Given the description of an element on the screen output the (x, y) to click on. 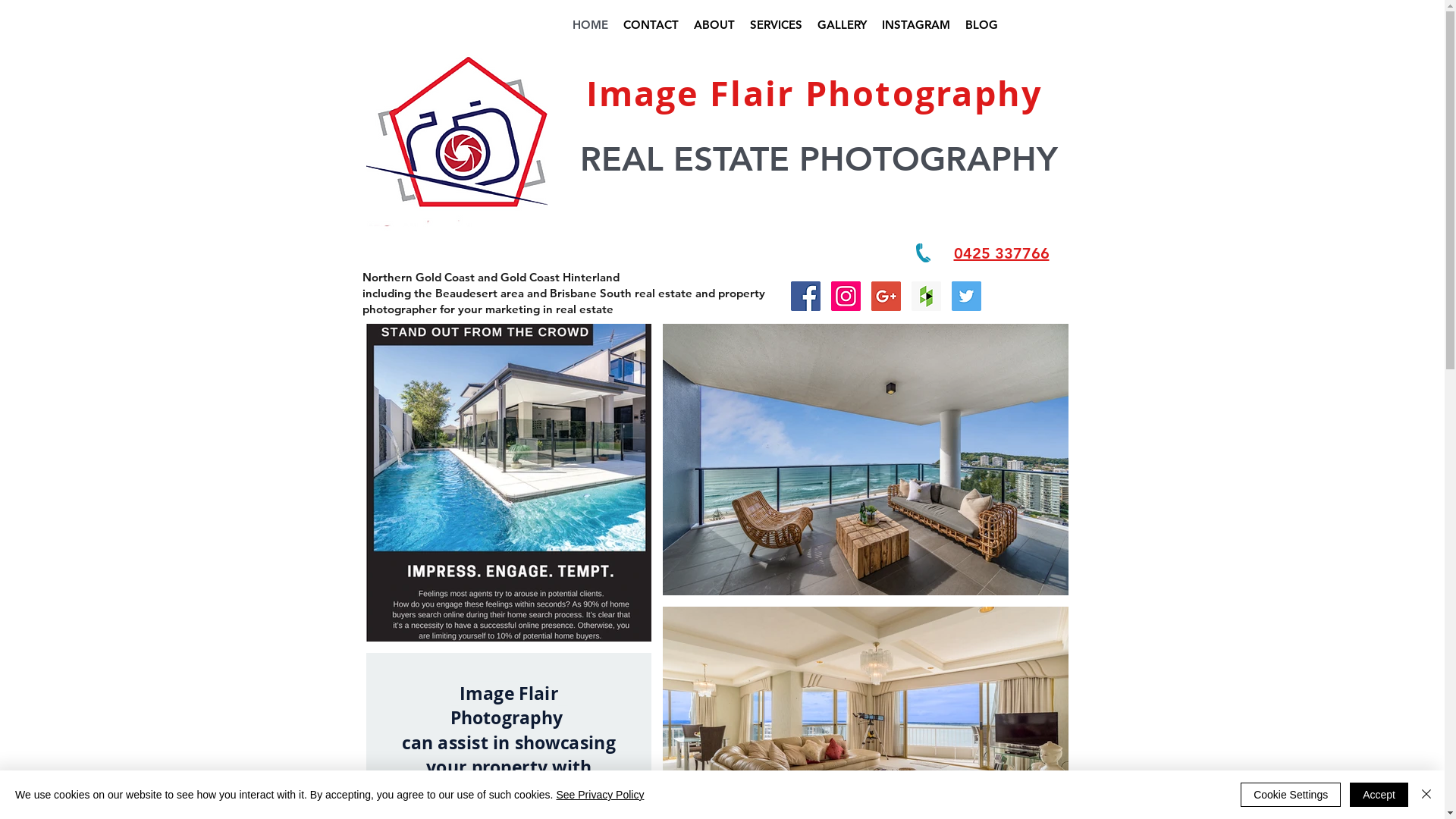
Image Flair Photography Element type: text (813, 92)
GALLERY Element type: text (841, 24)
See Privacy Policy Element type: text (599, 794)
Phone Contact Element type: hover (923, 252)
SERVICES Element type: text (775, 24)
0425 337766 Element type: text (1001, 253)
Cookie Settings Element type: text (1290, 794)
ABOUT Element type: text (713, 24)
REAL ESTATE PHOTOGRAPHY Element type: text (818, 158)
Image Flair Photography logo Element type: hover (455, 143)
INSTAGRAM Element type: text (915, 24)
HOME Element type: text (589, 24)
BLOG Element type: text (980, 24)
CONTACT Element type: text (650, 24)
Accept Element type: text (1378, 794)
